Given the description of an element on the screen output the (x, y) to click on. 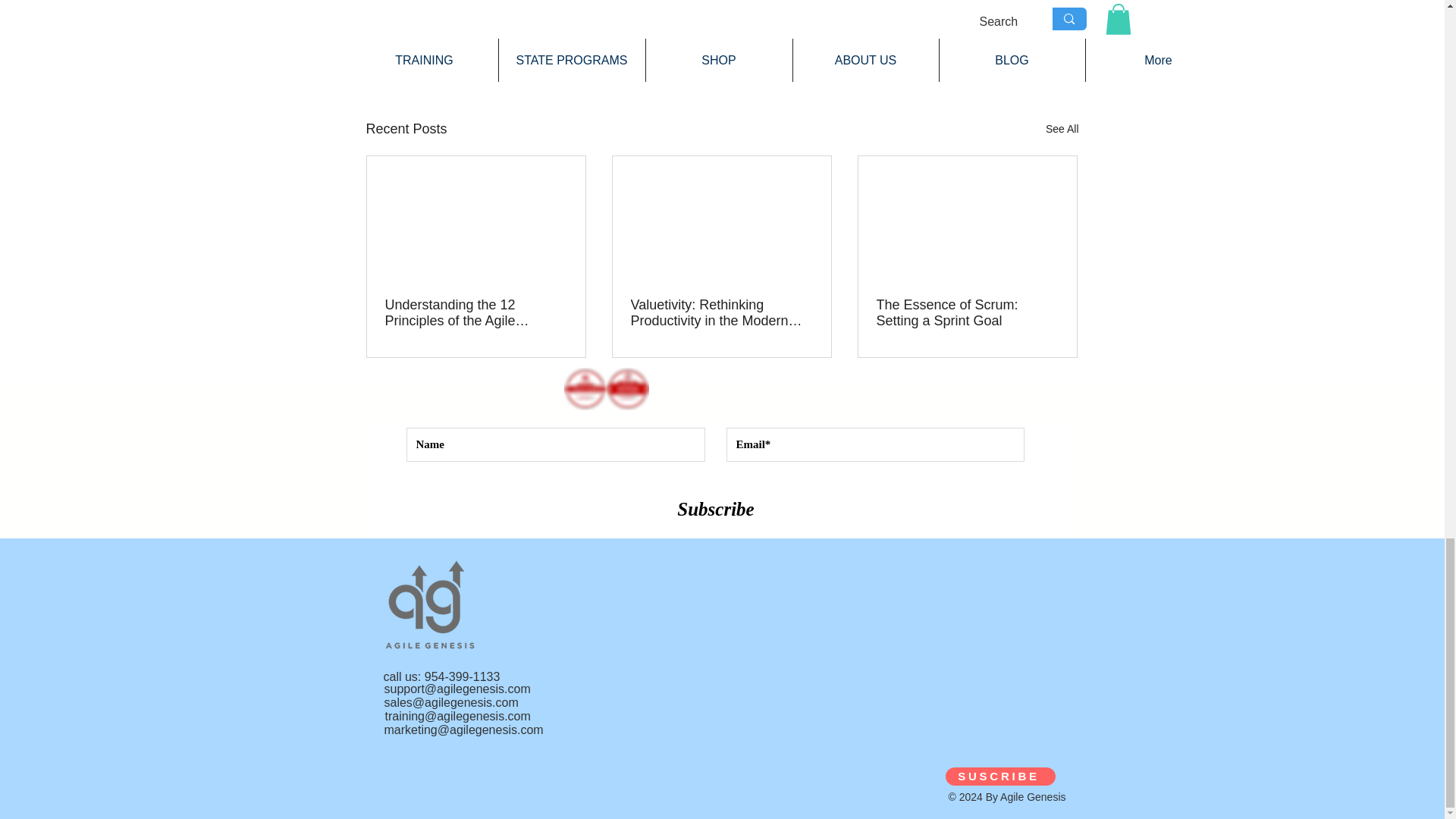
The Essence of Scrum: Setting a Sprint Goal (967, 313)
Subscribe (715, 509)
See All (1061, 128)
Valuetivity: Rethinking Productivity in the Modern Age (721, 313)
Understanding the 12 Principles of the Agile Manifesto (476, 313)
